Given the description of an element on the screen output the (x, y) to click on. 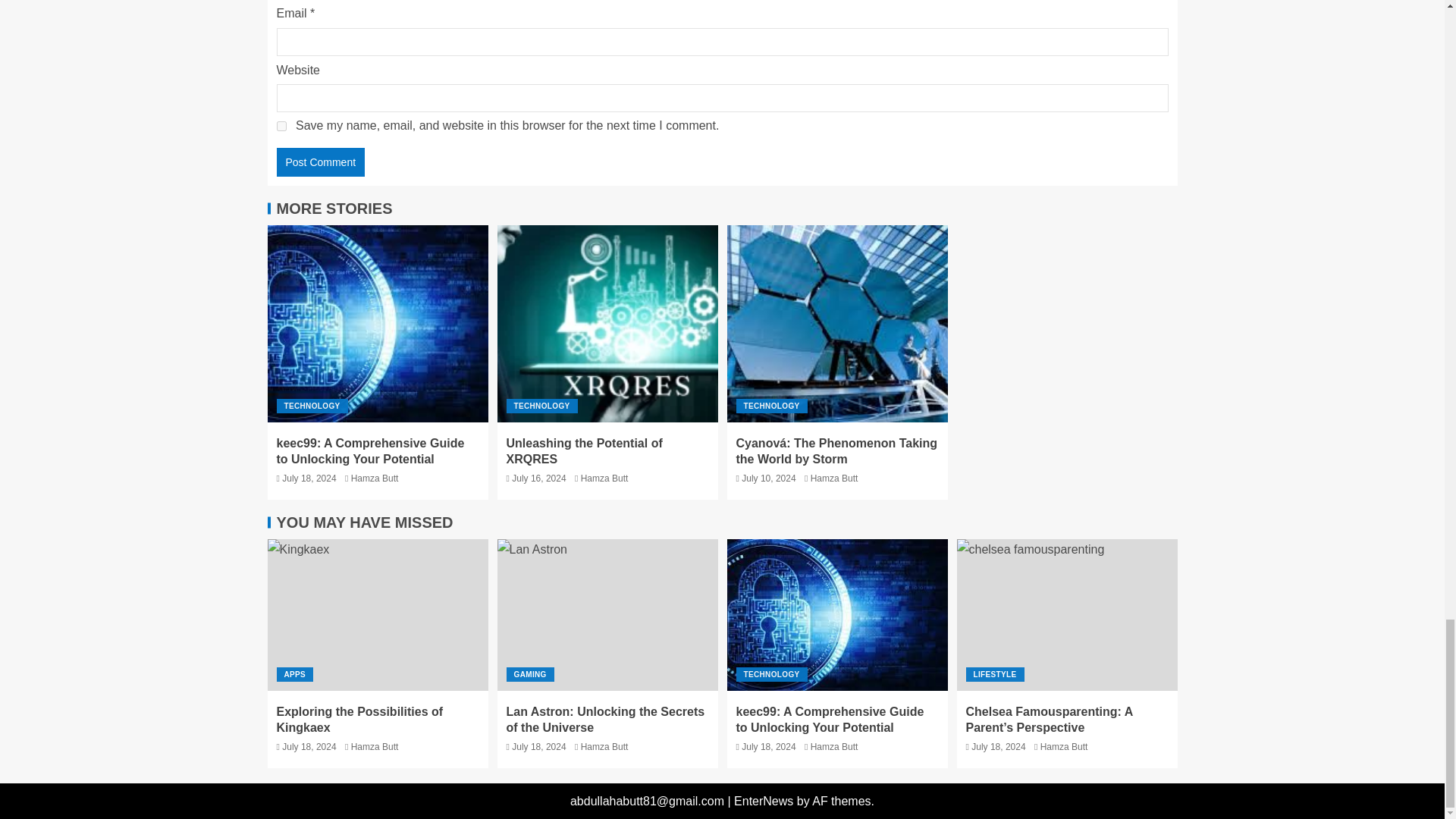
Post Comment (320, 162)
Unleashing the Potential of XRQRES (584, 451)
keec99: A Comprehensive Guide to Unlocking Your Potential (370, 451)
TECHNOLOGY (311, 405)
TECHNOLOGY (542, 405)
Post Comment (320, 162)
Hamza Butt (604, 478)
yes (280, 126)
Hamza Butt (374, 478)
